Given the description of an element on the screen output the (x, y) to click on. 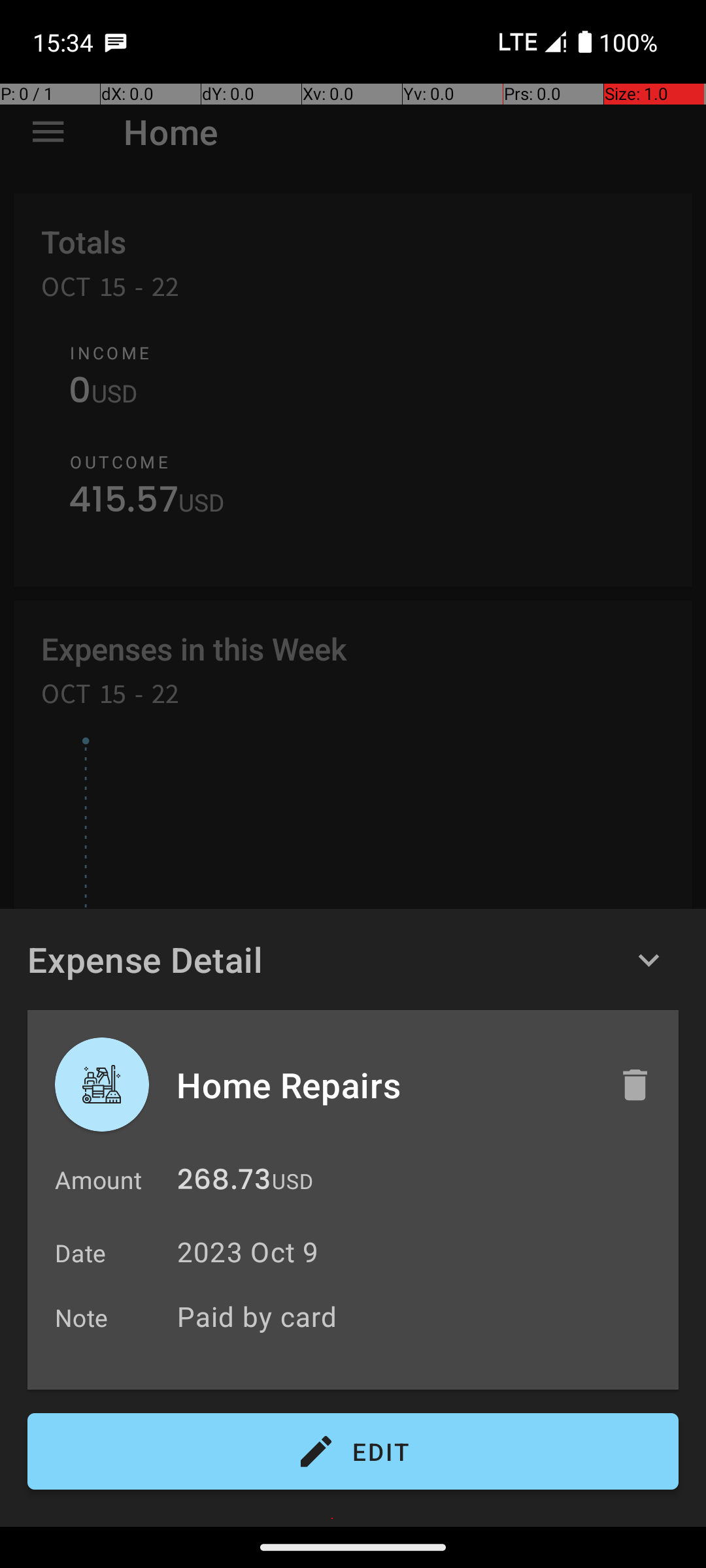
Home Repairs Element type: android.widget.TextView (383, 1084)
268.73 Element type: android.widget.TextView (223, 1182)
